Given the description of an element on the screen output the (x, y) to click on. 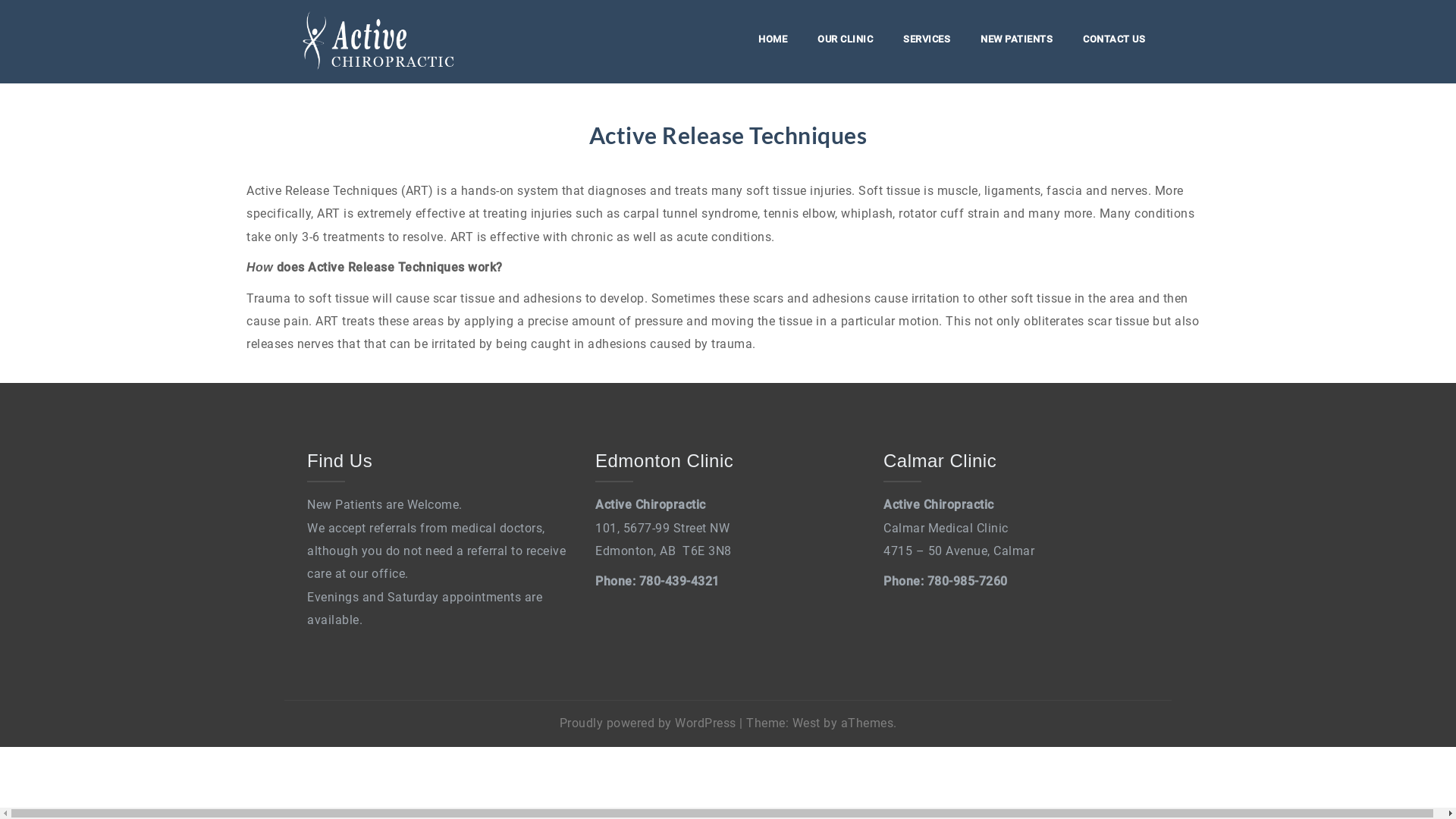
OUR CLINIC Element type: text (844, 41)
HOME Element type: text (772, 41)
Proudly powered by WordPress Element type: text (647, 722)
Active Chiropractic Element type: hover (376, 40)
SERVICES Element type: text (926, 41)
West Element type: text (805, 722)
NEW PATIENTS Element type: text (1016, 41)
CONTACT US Element type: text (1113, 41)
